Given the description of an element on the screen output the (x, y) to click on. 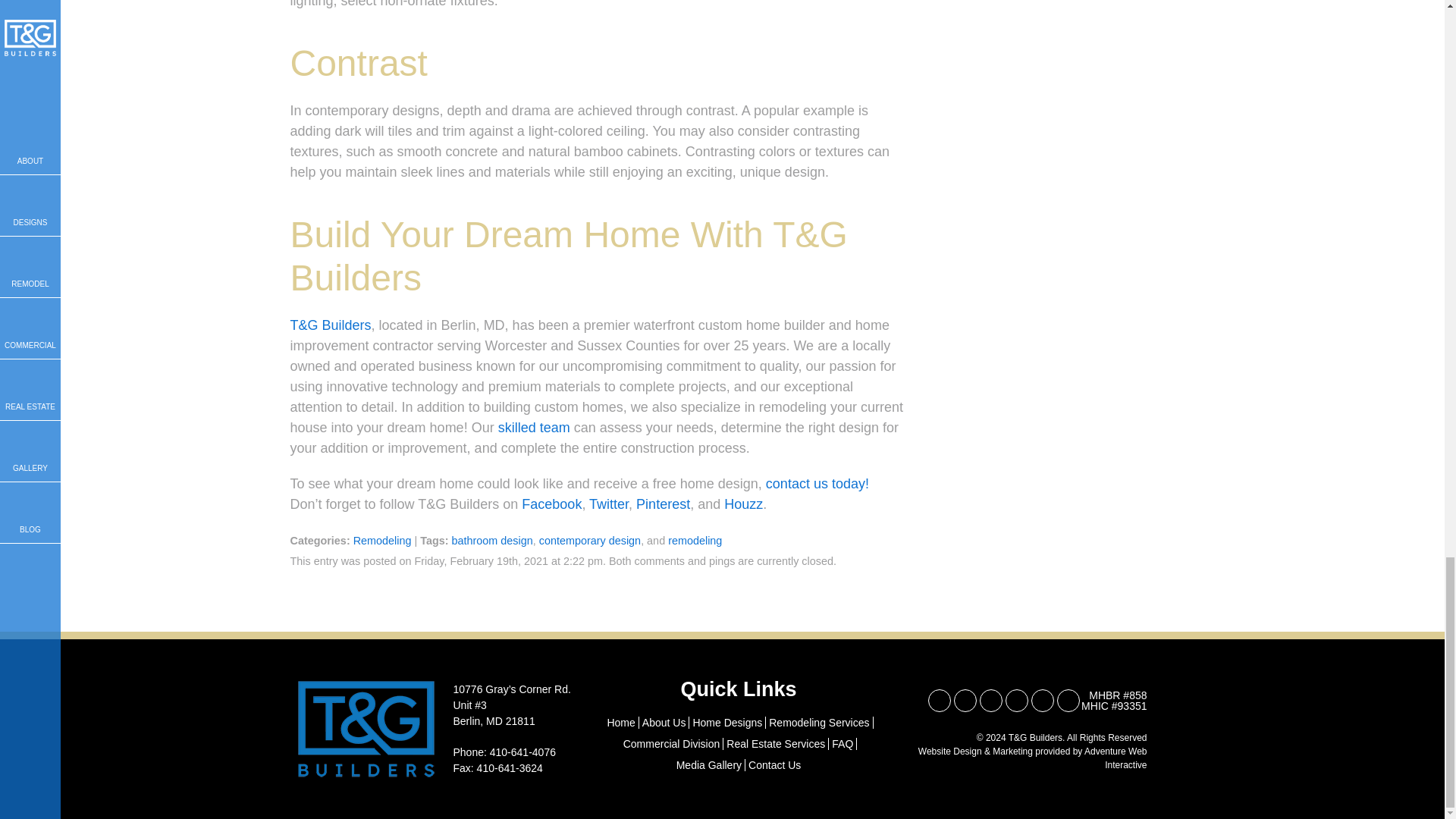
contact us today! (817, 483)
Facebook (550, 503)
skilled team (533, 427)
